Given the description of an element on the screen output the (x, y) to click on. 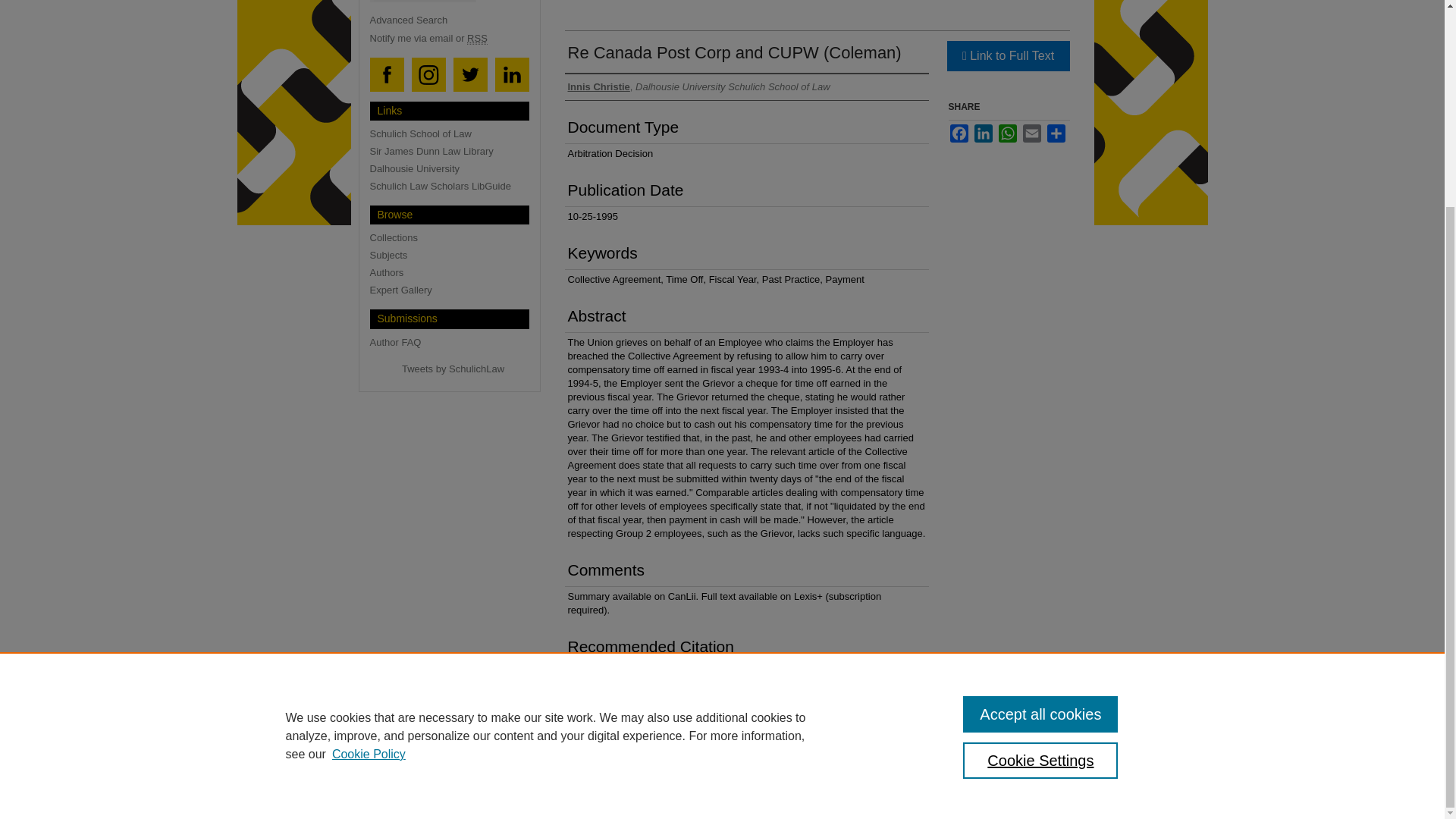
Schulich School of Law Facebook (386, 75)
Schulich School of Law (454, 133)
WhatsApp (1006, 132)
Sir James Dunn Law Library (454, 151)
Advanced Search (408, 19)
Share (1055, 132)
Email or RSS Notifications (454, 38)
Email (1031, 132)
Link opens in new window (1007, 55)
LinkedIn (982, 132)
Collections (454, 237)
Facebook (958, 132)
Dalhousie University (454, 168)
Schulich School of Law Instagram (428, 75)
Really Simple Syndication (477, 38)
